Given the description of an element on the screen output the (x, y) to click on. 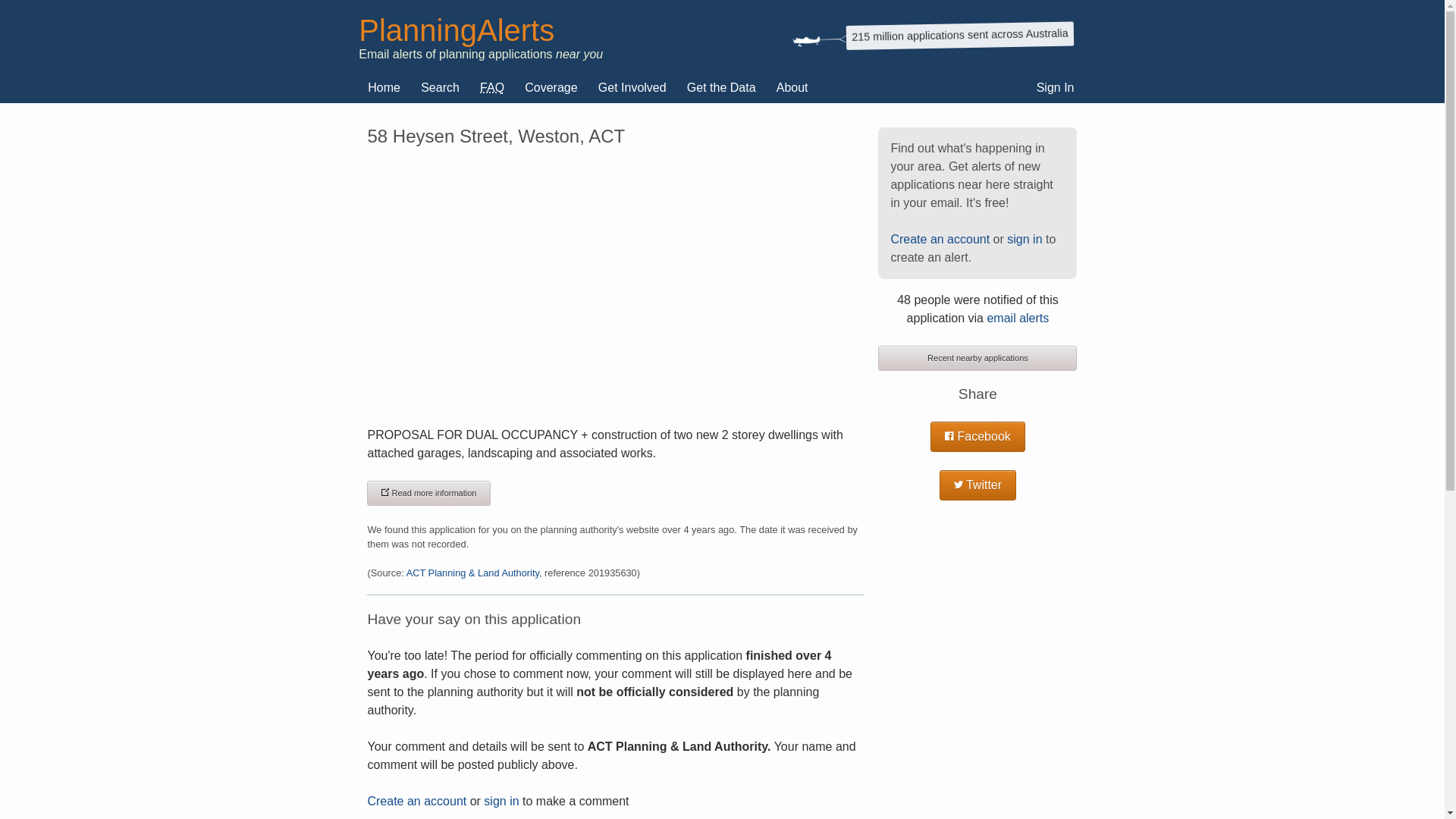
Create an account Element type: text (939, 238)
Recent nearby applications Element type: text (977, 357)
email alerts Element type: text (1017, 317)
Read more information Element type: text (428, 492)
ACT Planning & Land Authority Element type: text (472, 572)
Twitter Element type: text (977, 485)
Sign In Element type: text (1055, 87)
About Element type: text (792, 87)
PlanningAlerts Element type: text (456, 30)
Get Involved Element type: text (632, 87)
Facebook Element type: text (977, 436)
Coverage Element type: text (550, 87)
FAQ Element type: text (491, 87)
sign in Element type: text (1024, 238)
Search Element type: text (439, 87)
sign in Element type: text (500, 800)
Home Element type: text (383, 87)
Create an account Element type: text (416, 800)
Get the Data Element type: text (721, 87)
